Given the description of an element on the screen output the (x, y) to click on. 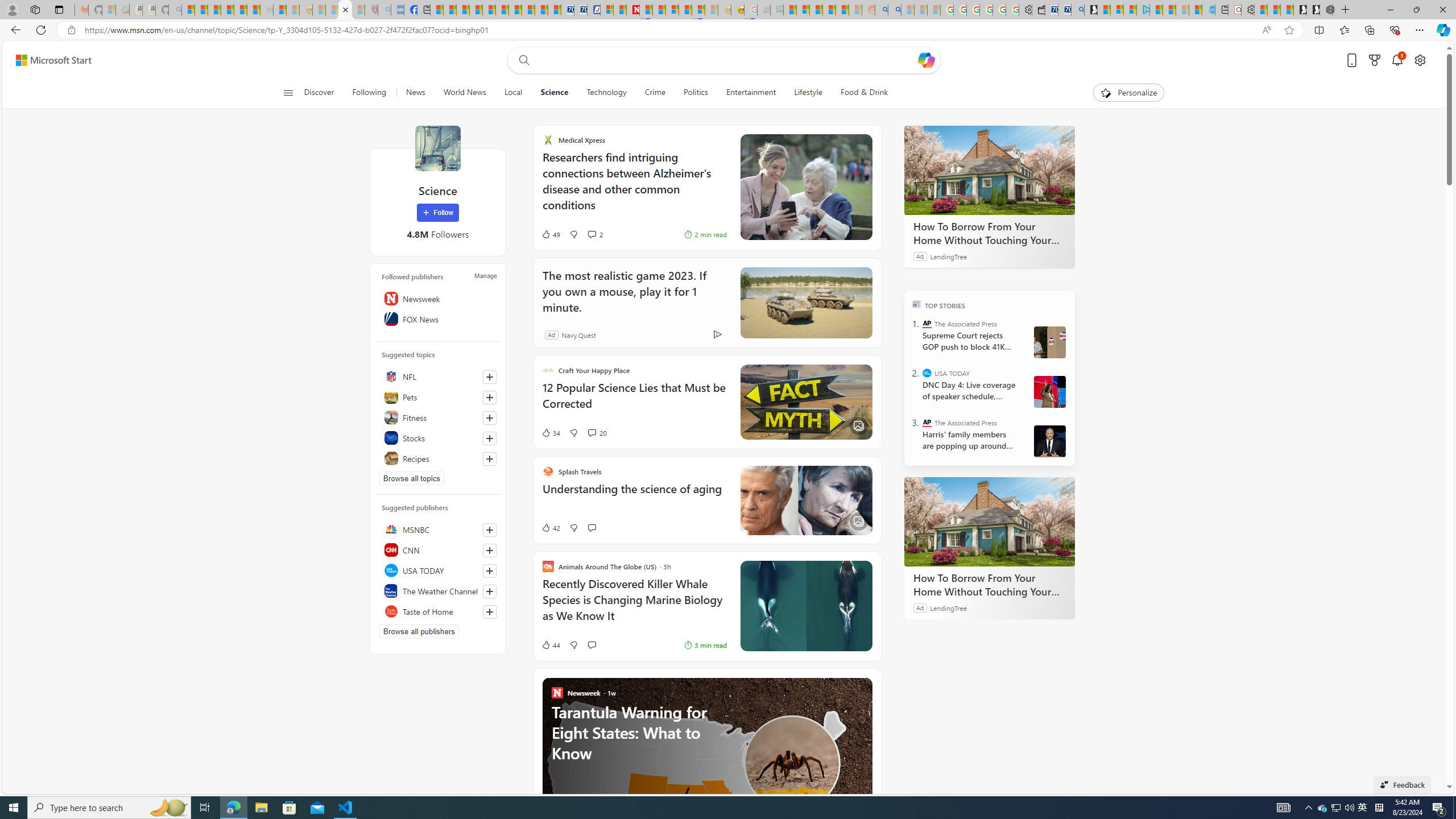
Climate Damage Becomes Too Severe To Reverse (475, 9)
Latest Politics News & Archive | Newsweek.com (633, 9)
New Report Confirms 2023 Was Record Hot | Watch (239, 9)
Bing Real Estate - Home sales and rental listings (1077, 9)
